Given the description of an element on the screen output the (x, y) to click on. 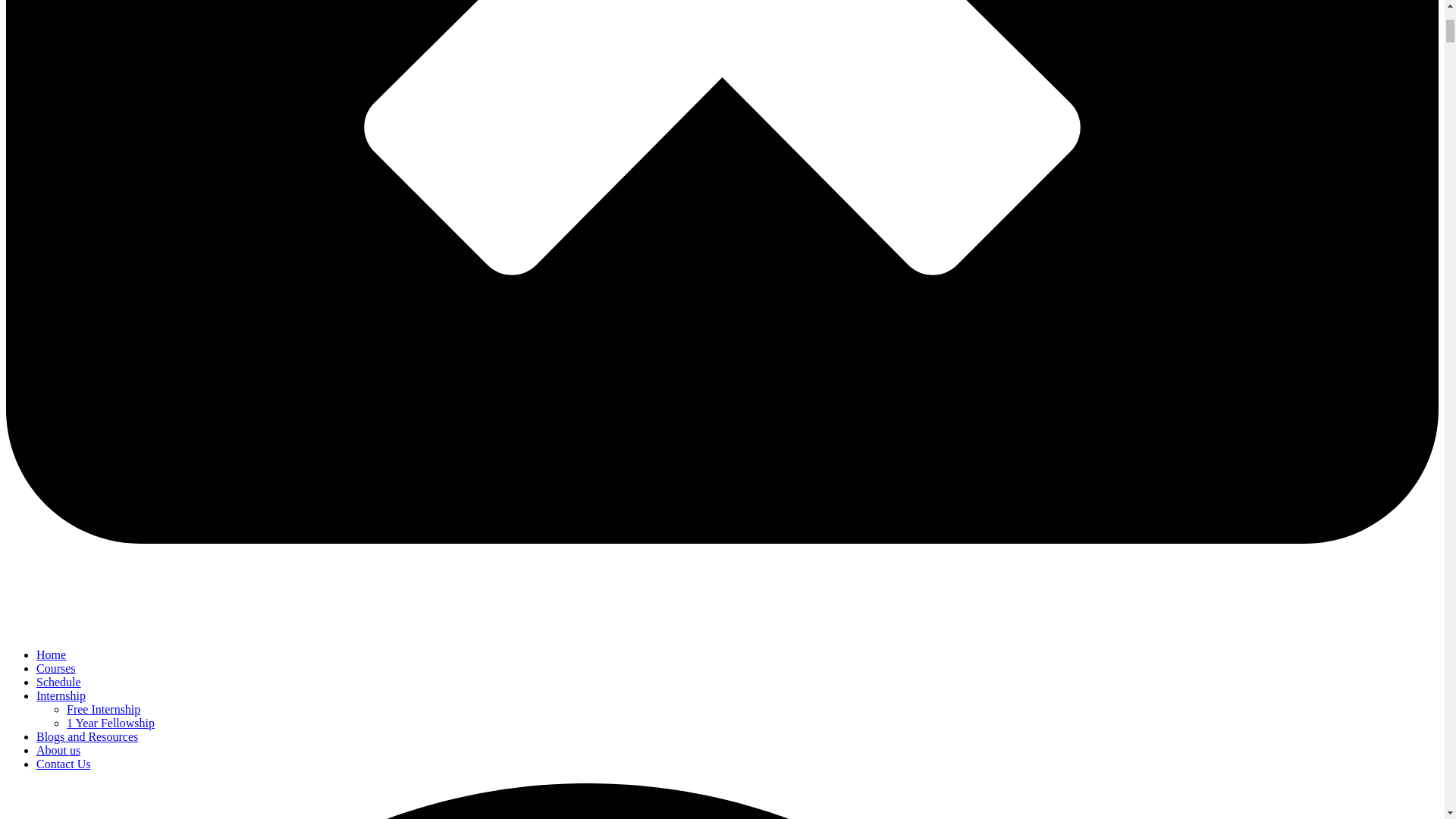
Internship (60, 695)
1 Year Fellowship (110, 722)
Free Internship (102, 708)
Home (50, 654)
Contact Us (63, 763)
Courses (55, 667)
Blogs and Resources (87, 736)
Schedule (58, 681)
About us (58, 749)
